Given the description of an element on the screen output the (x, y) to click on. 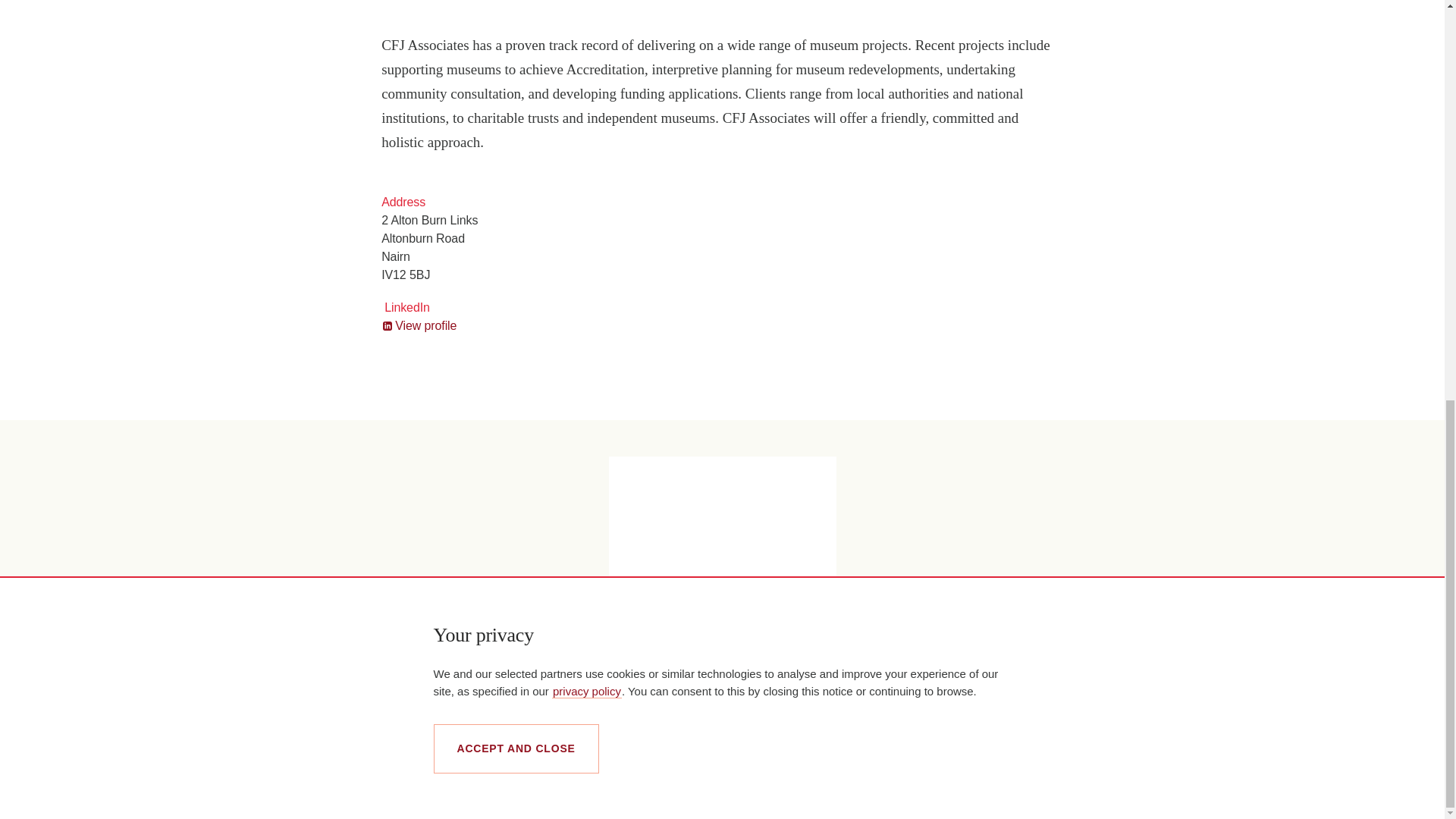
Twitter (1189, 791)
LinkedIn (1146, 791)
Facebook (1167, 791)
Instagram (1217, 791)
